Given the description of an element on the screen output the (x, y) to click on. 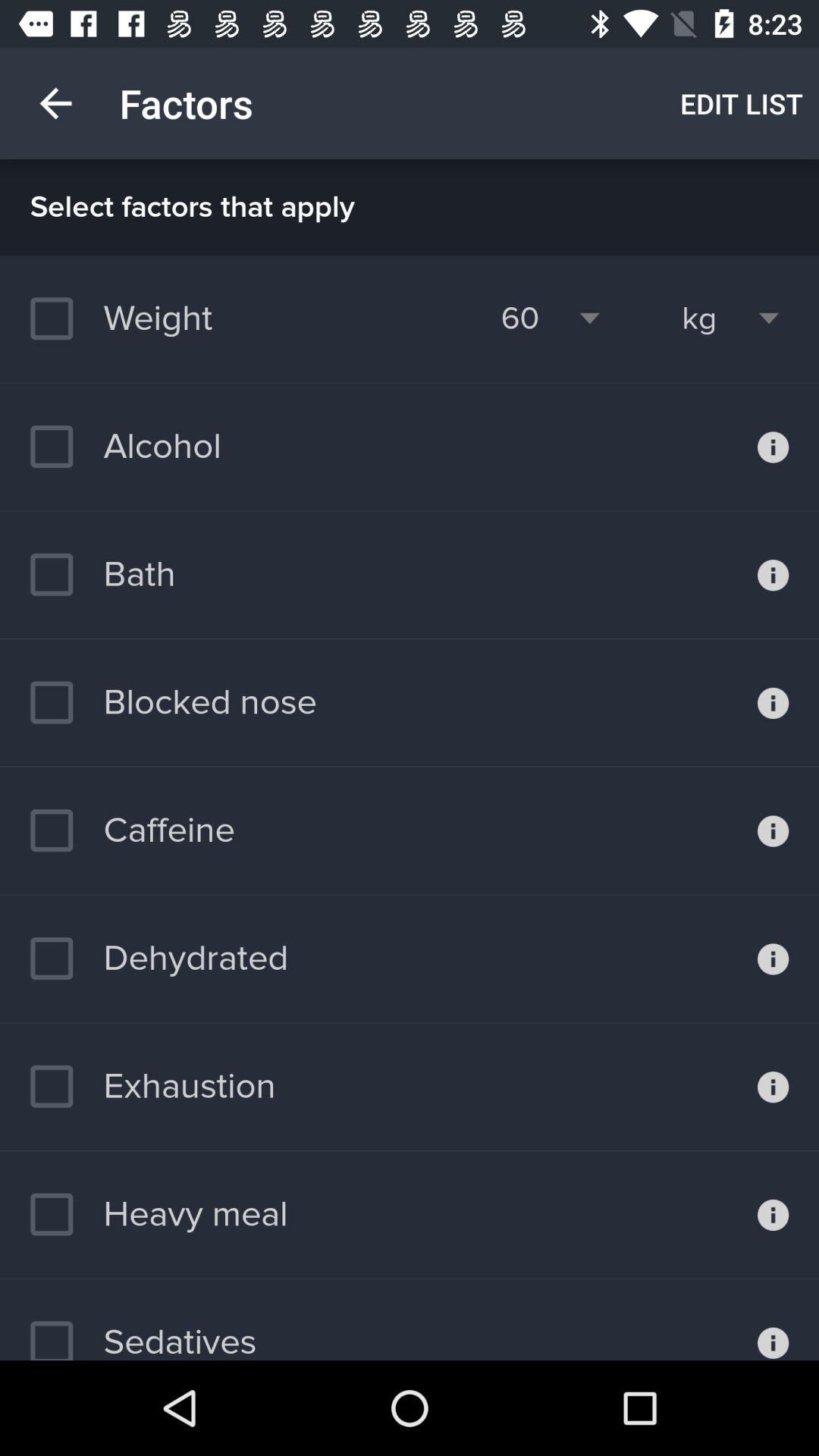
more info (773, 574)
